Given the description of an element on the screen output the (x, y) to click on. 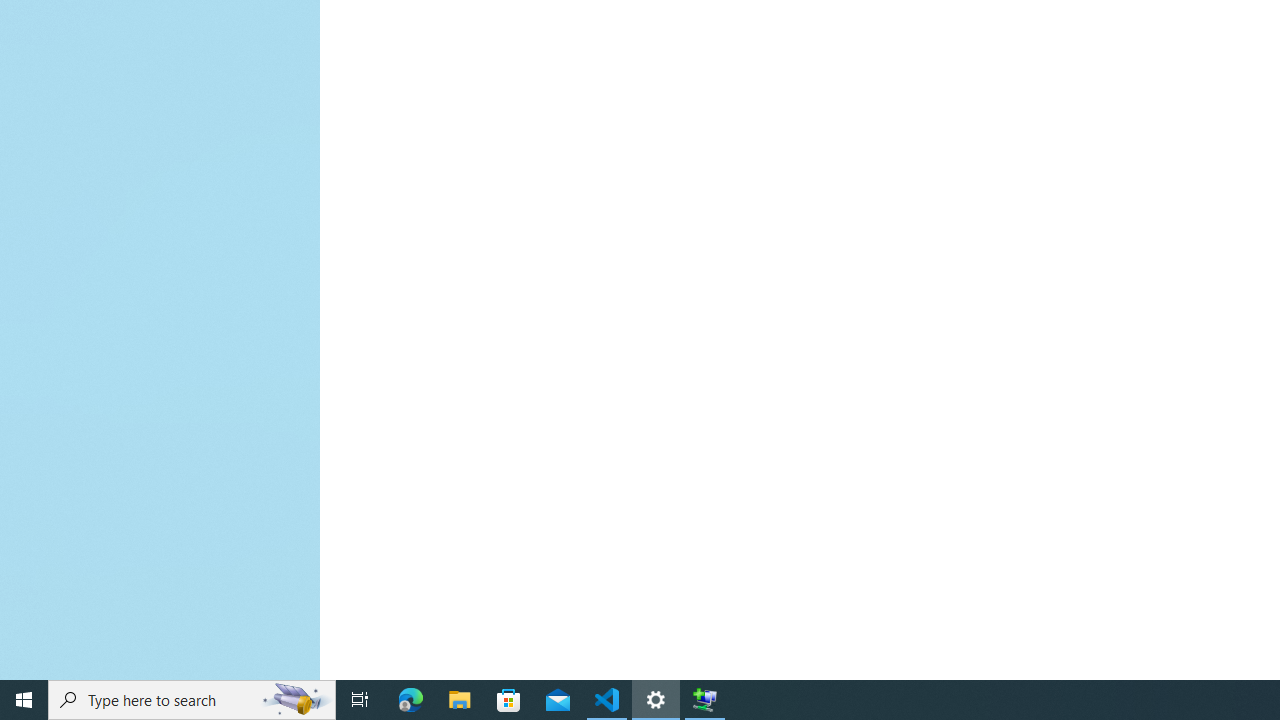
Extensible Wizards Host Process - 1 running window (704, 699)
